Given the description of an element on the screen output the (x, y) to click on. 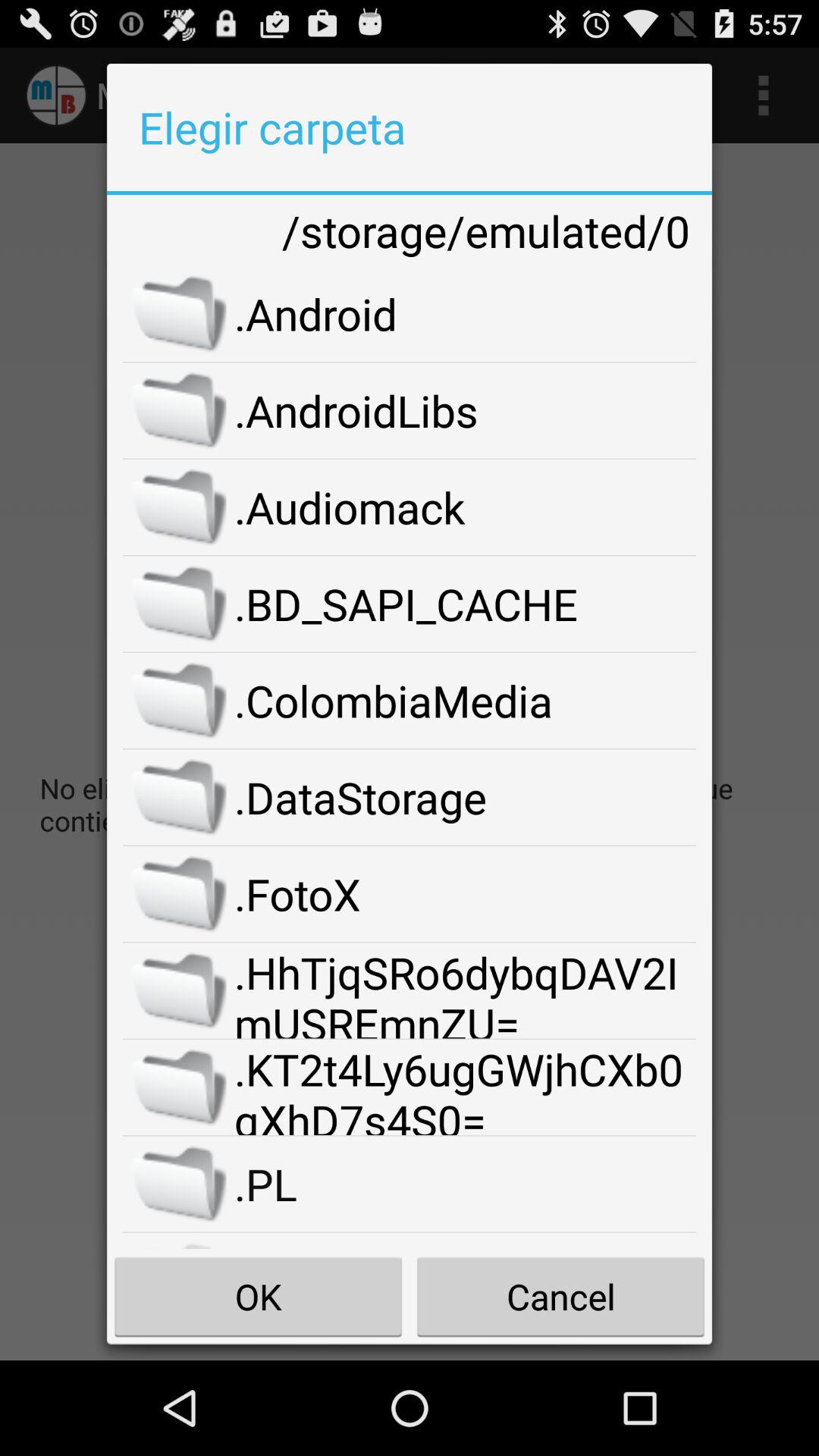
swipe until .androidlibs (465, 410)
